Given the description of an element on the screen output the (x, y) to click on. 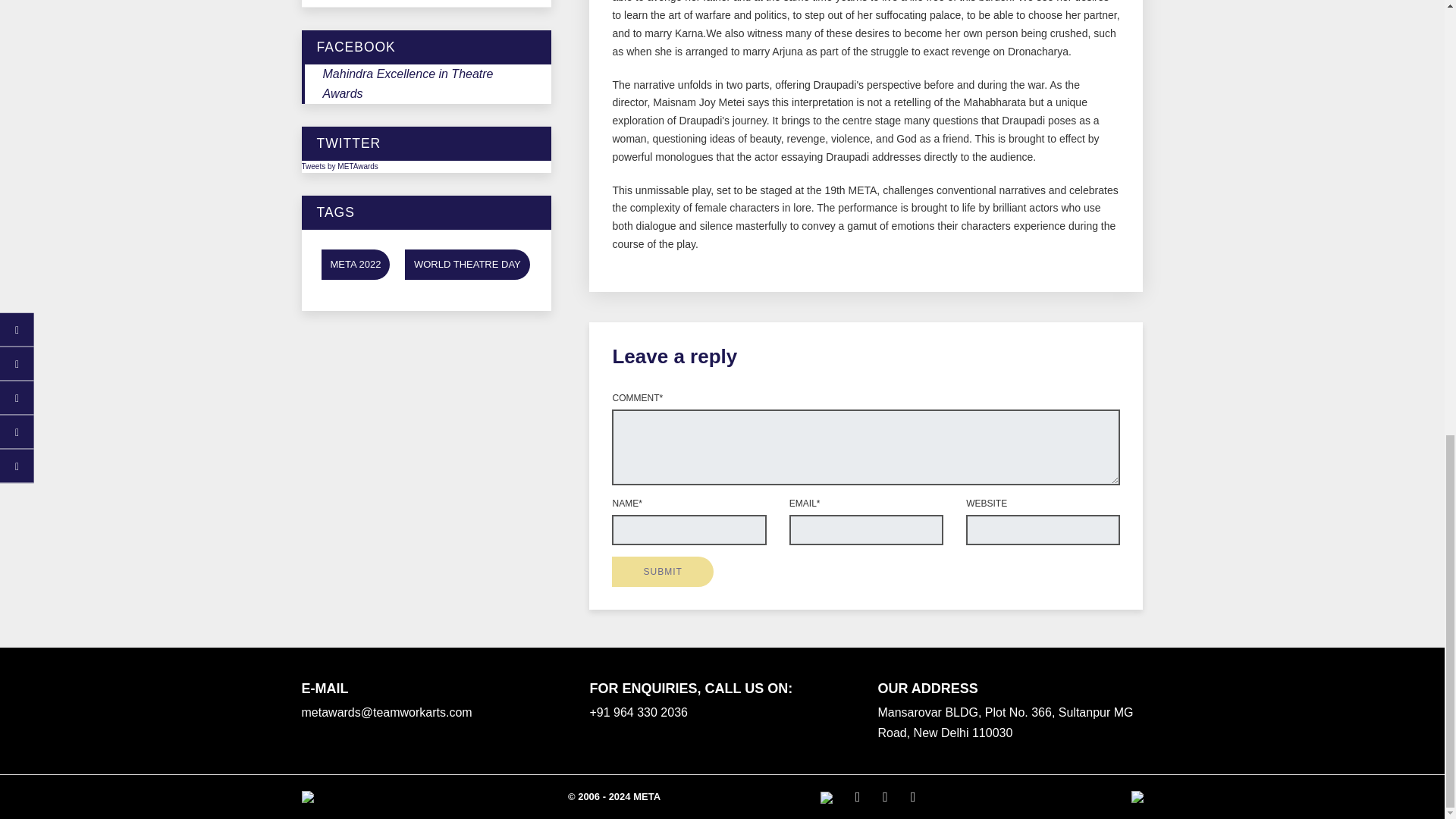
WORLD THEATRE DAY (466, 264)
SUBMIT (662, 571)
Tweets by METAwards (339, 166)
Mahindra Excellence in Theatre Awards (408, 83)
META 2022 (355, 264)
